Given the description of an element on the screen output the (x, y) to click on. 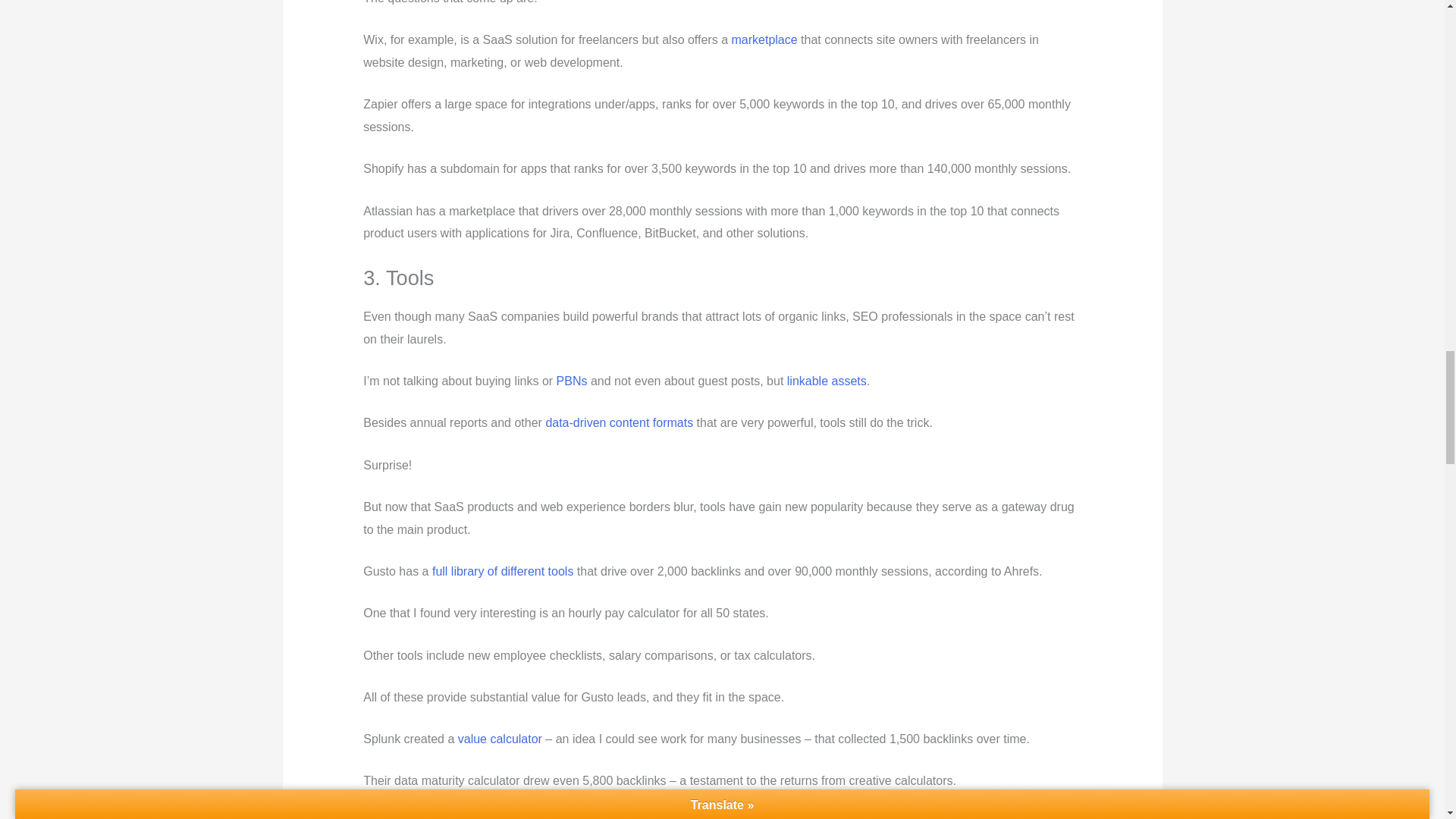
value calculator (499, 738)
full library of different tools (502, 571)
PBNs (572, 380)
marketplace (763, 39)
linkable assets (826, 380)
data-driven content formats (618, 422)
